Given the description of an element on the screen output the (x, y) to click on. 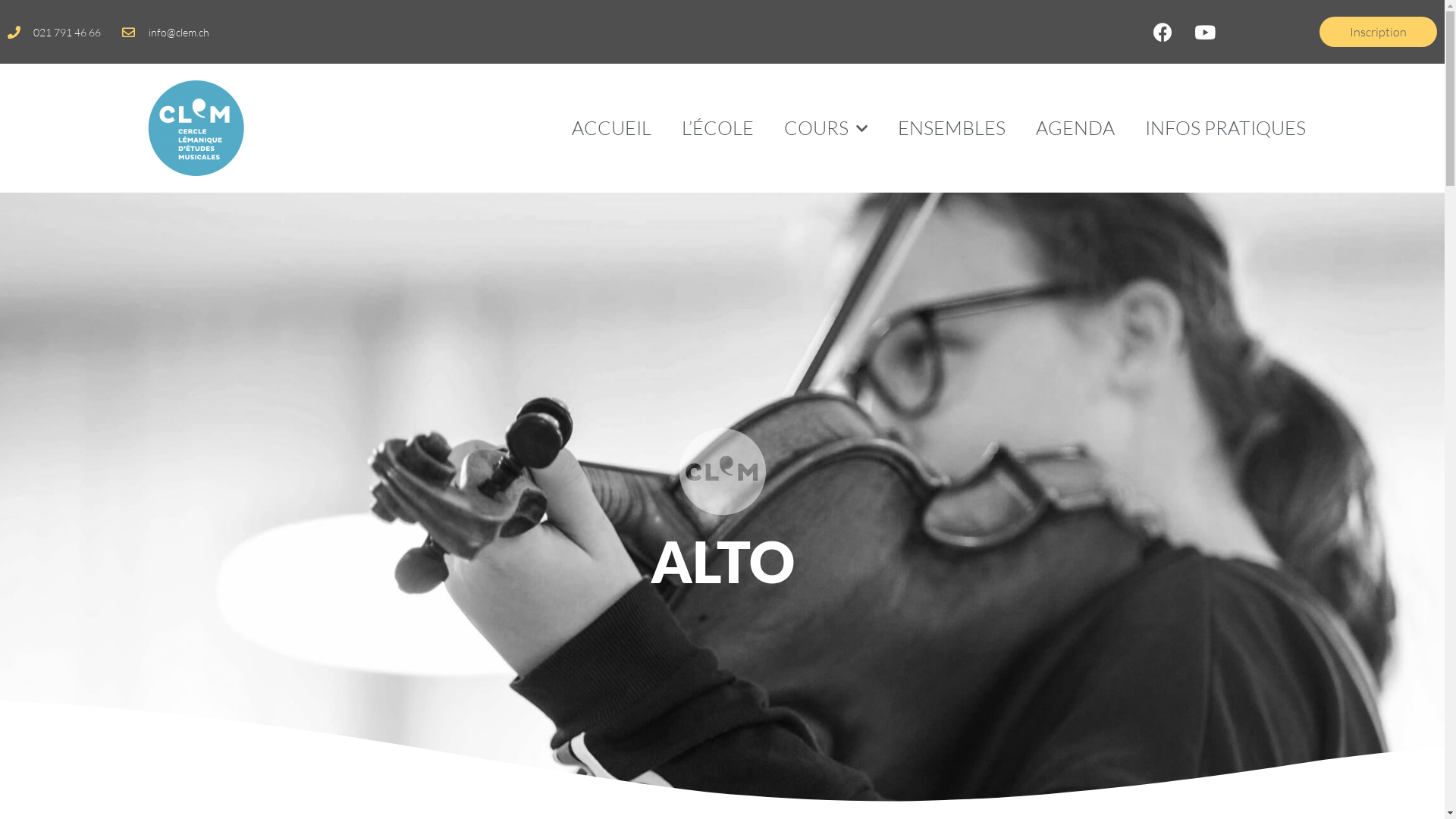
ACCUEIL Element type: text (611, 127)
ENSEMBLES Element type: text (951, 127)
COURS Element type: text (825, 127)
021 791 46 66 Element type: text (53, 32)
INFOS PRATIQUES Element type: text (1225, 127)
Inscription Element type: text (1378, 31)
AGENDA Element type: text (1074, 127)
info@clem.ch Element type: text (165, 32)
